Given the description of an element on the screen output the (x, y) to click on. 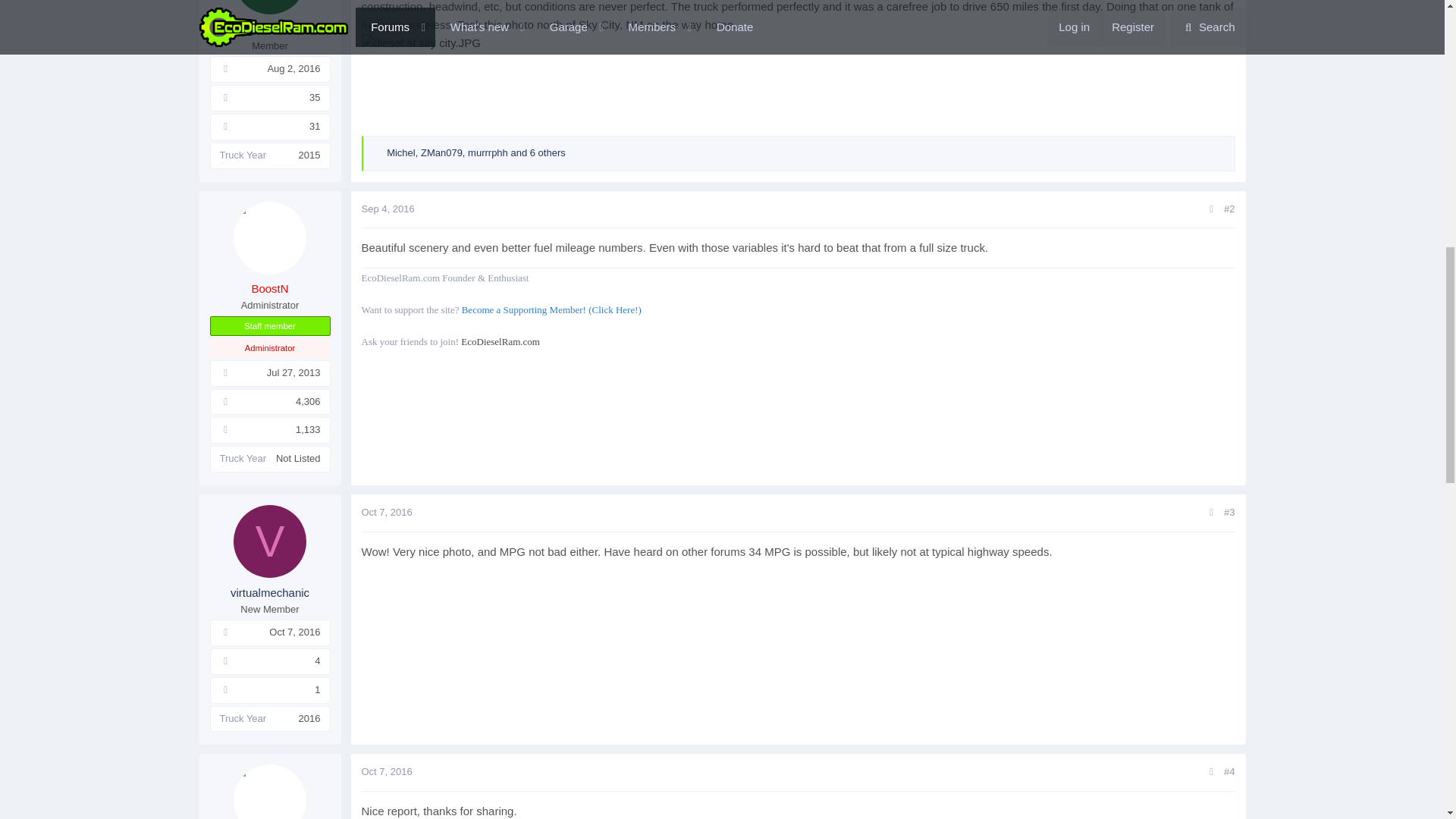
Oct 7, 2016 at 11:22 PM (386, 771)
Sep 4, 2016 at 9:54 AM (387, 208)
diesel at sky city.JPG (420, 43)
Like (377, 152)
Oct 7, 2016 at 11:19 PM (386, 511)
